Given the description of an element on the screen output the (x, y) to click on. 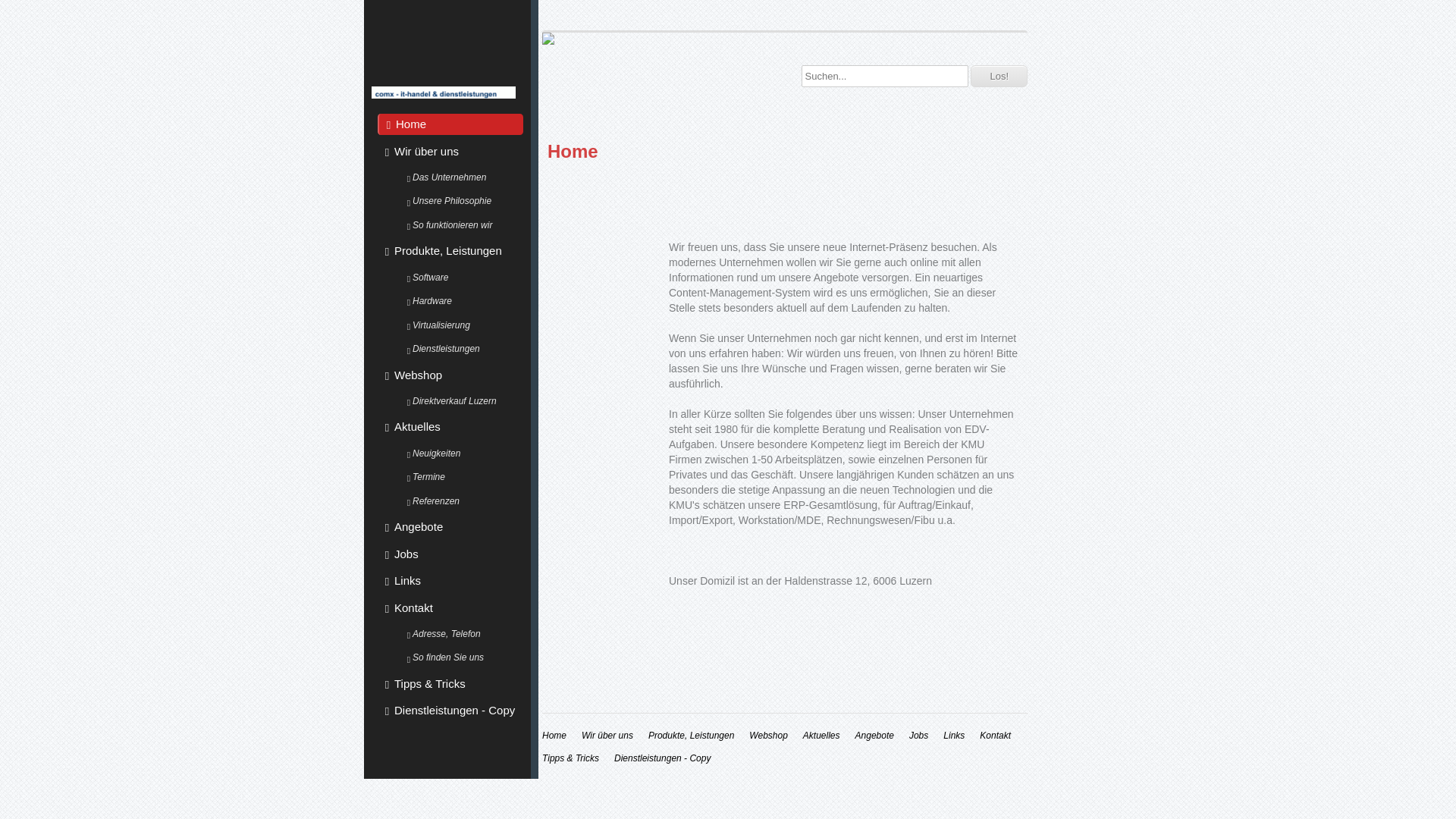
Los! Element type: text (998, 76)
Links Element type: text (953, 735)
Neuigkeiten Element type: text (460, 453)
Kontakt Element type: text (450, 607)
Referenzen Element type: text (460, 501)
Hardware Element type: text (460, 300)
Virtualisierung Element type: text (460, 325)
Links Element type: text (450, 580)
Produkte, Leistungen Element type: text (691, 735)
Webshop Element type: text (450, 374)
Software Element type: text (460, 277)
Home Element type: text (450, 123)
Tipps & Tricks Element type: text (570, 758)
Dienstleistungen Element type: text (460, 349)
Jobs Element type: text (450, 553)
Termine Element type: text (460, 476)
Das Unternehmen Element type: text (460, 177)
Home Element type: text (554, 735)
Dienstleistungen - Copy Element type: text (662, 758)
Aktuelles Element type: text (450, 426)
Produkte, Leistungen Element type: text (450, 250)
Kontakt Element type: text (994, 735)
Tipps & Tricks Element type: text (450, 683)
Webshop Element type: text (768, 735)
Jobs Element type: text (918, 735)
Aktuelles Element type: text (821, 735)
Unsere Philosophie Element type: text (460, 201)
Angebote Element type: text (450, 526)
Direktverkauf Luzern Element type: text (460, 401)
Adresse, Telefon Element type: text (460, 633)
So funktionieren wir Element type: text (460, 225)
Angebote Element type: text (874, 735)
Dienstleistungen - Copy Element type: text (450, 710)
So finden Sie uns Element type: text (460, 658)
